Given the description of an element on the screen output the (x, y) to click on. 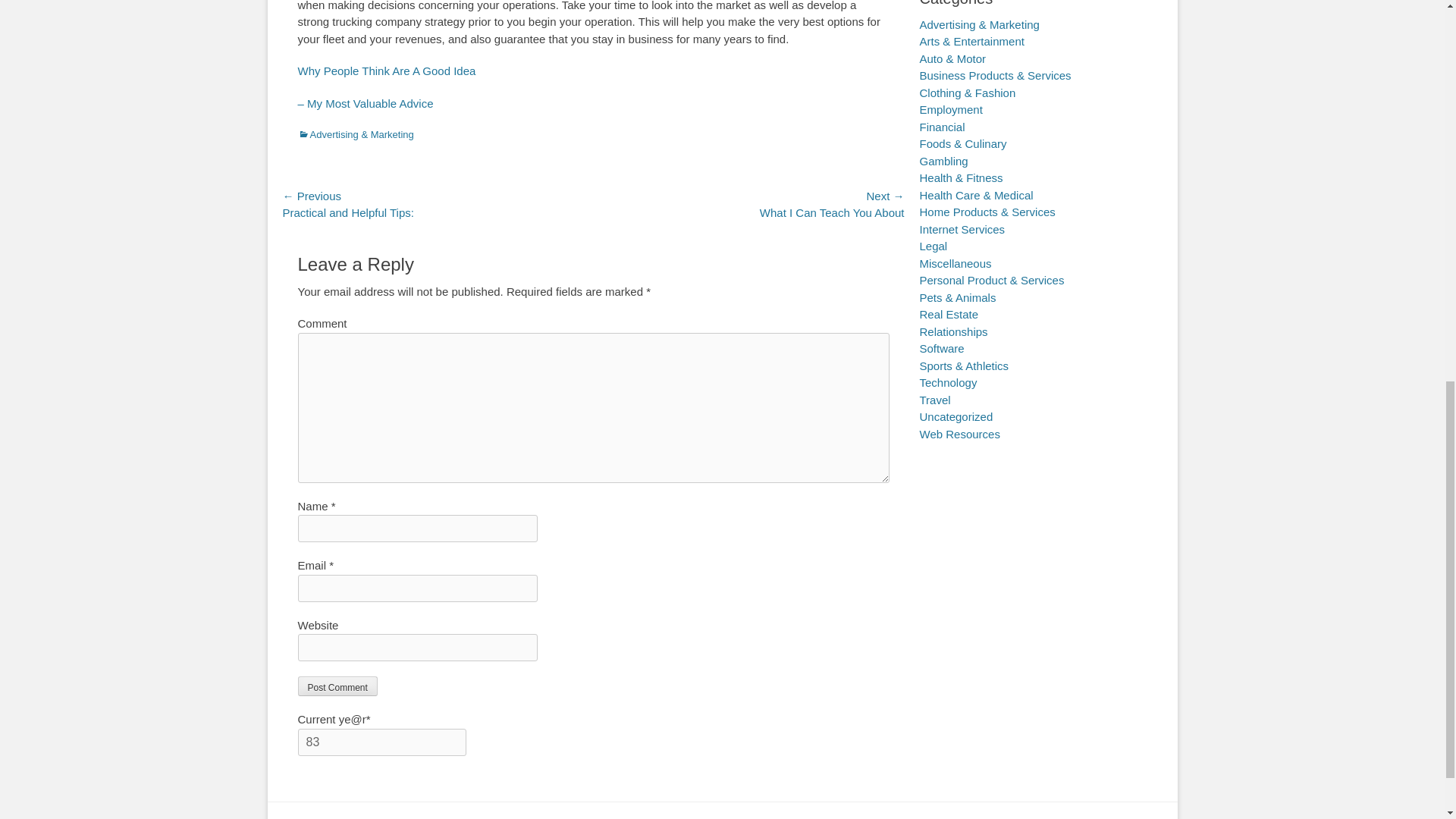
83 (381, 741)
Why People Think Are A Good Idea (386, 70)
Post Comment (337, 686)
Post Comment (337, 686)
